Given the description of an element on the screen output the (x, y) to click on. 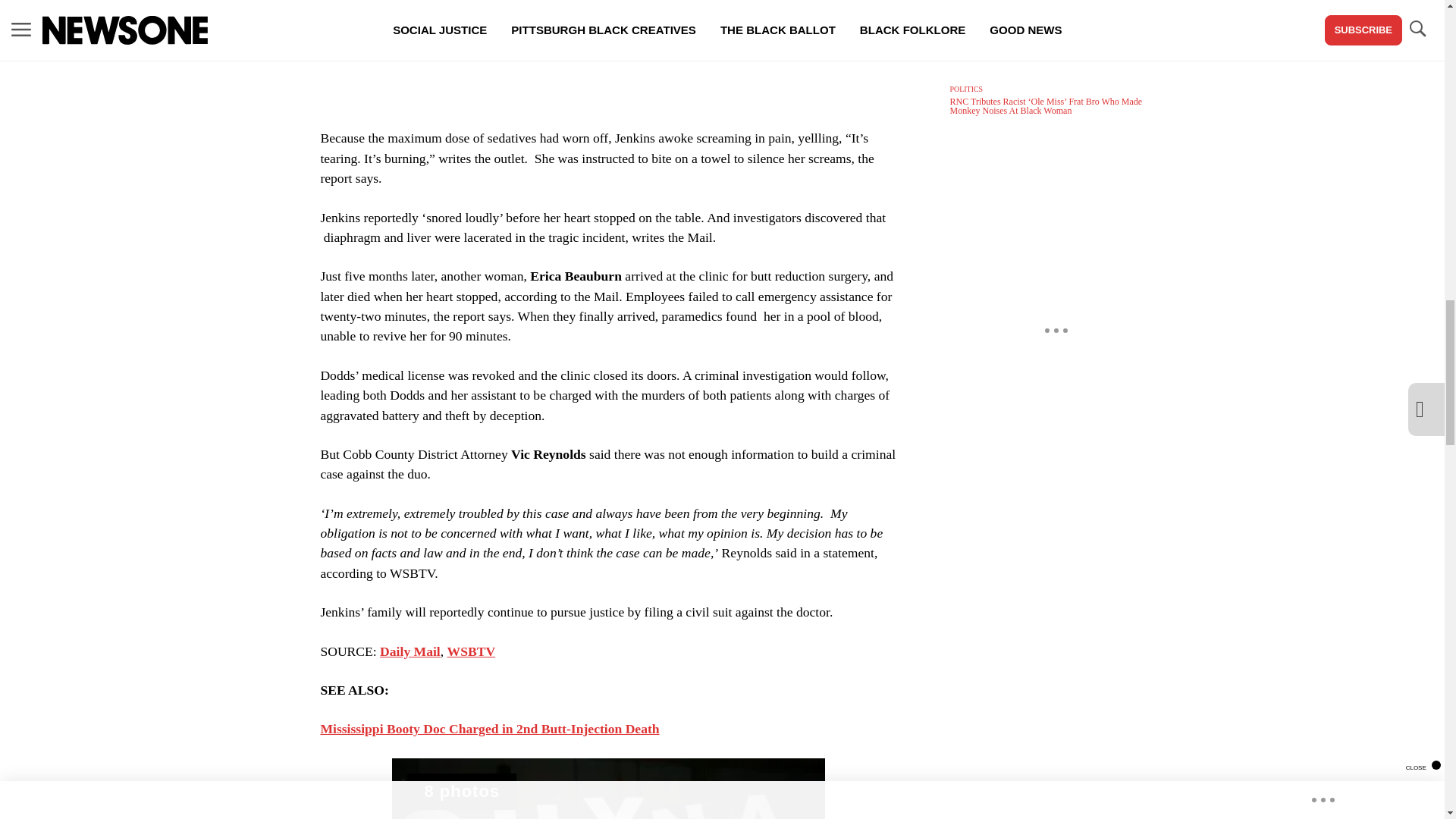
WSBTV (471, 651)
Media Playlist (461, 791)
Daily Mail (607, 788)
Mississippi Booty Doc Charged in 2nd Butt-Injection Death (410, 651)
